Given the description of an element on the screen output the (x, y) to click on. 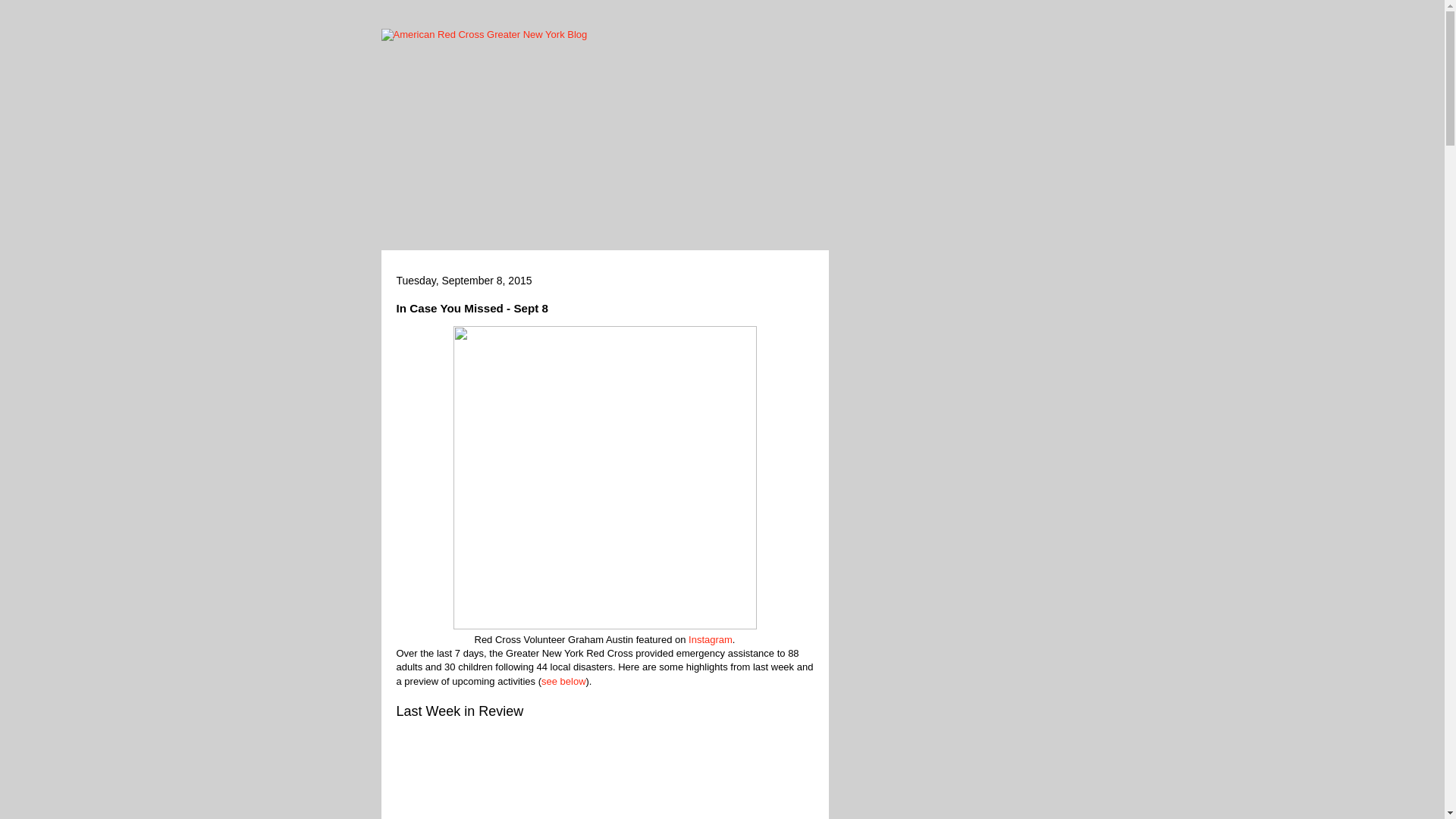
see below (563, 681)
Instagram (710, 639)
